Given the description of an element on the screen output the (x, y) to click on. 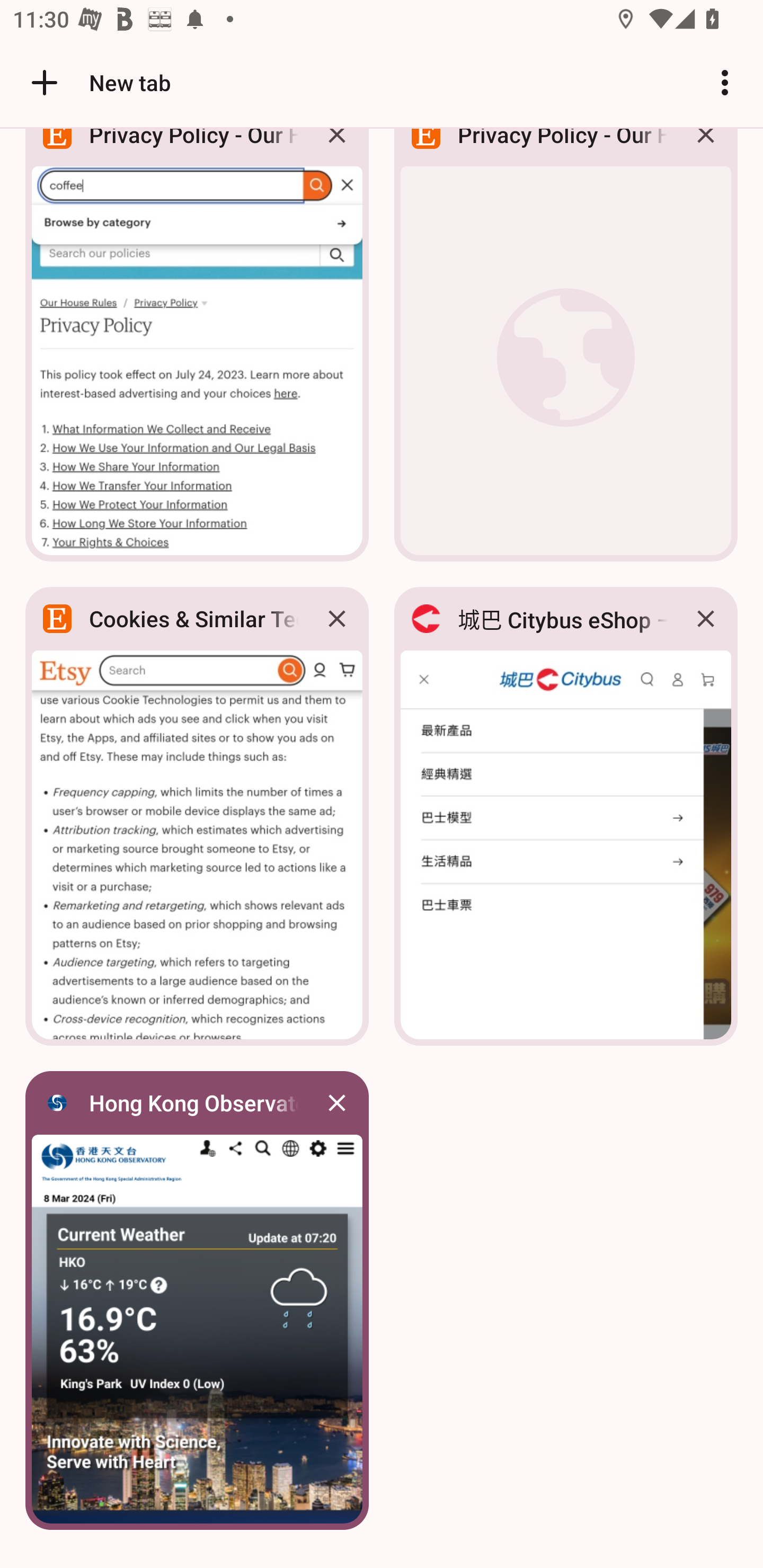
Open the home page (38, 82)
New tab (98, 82)
Customize and control Google Chrome (724, 82)
Close Privacy Policy - Our House Rules | Etsy tab (337, 149)
Close Privacy Policy - Our House Rules | Etsy tab (705, 149)
Close 城巴 Citybus eShop – 城巴 Citybus eShop tab (705, 618)
Close Hong Kong Observatory tab (337, 1102)
